Given the description of an element on the screen output the (x, y) to click on. 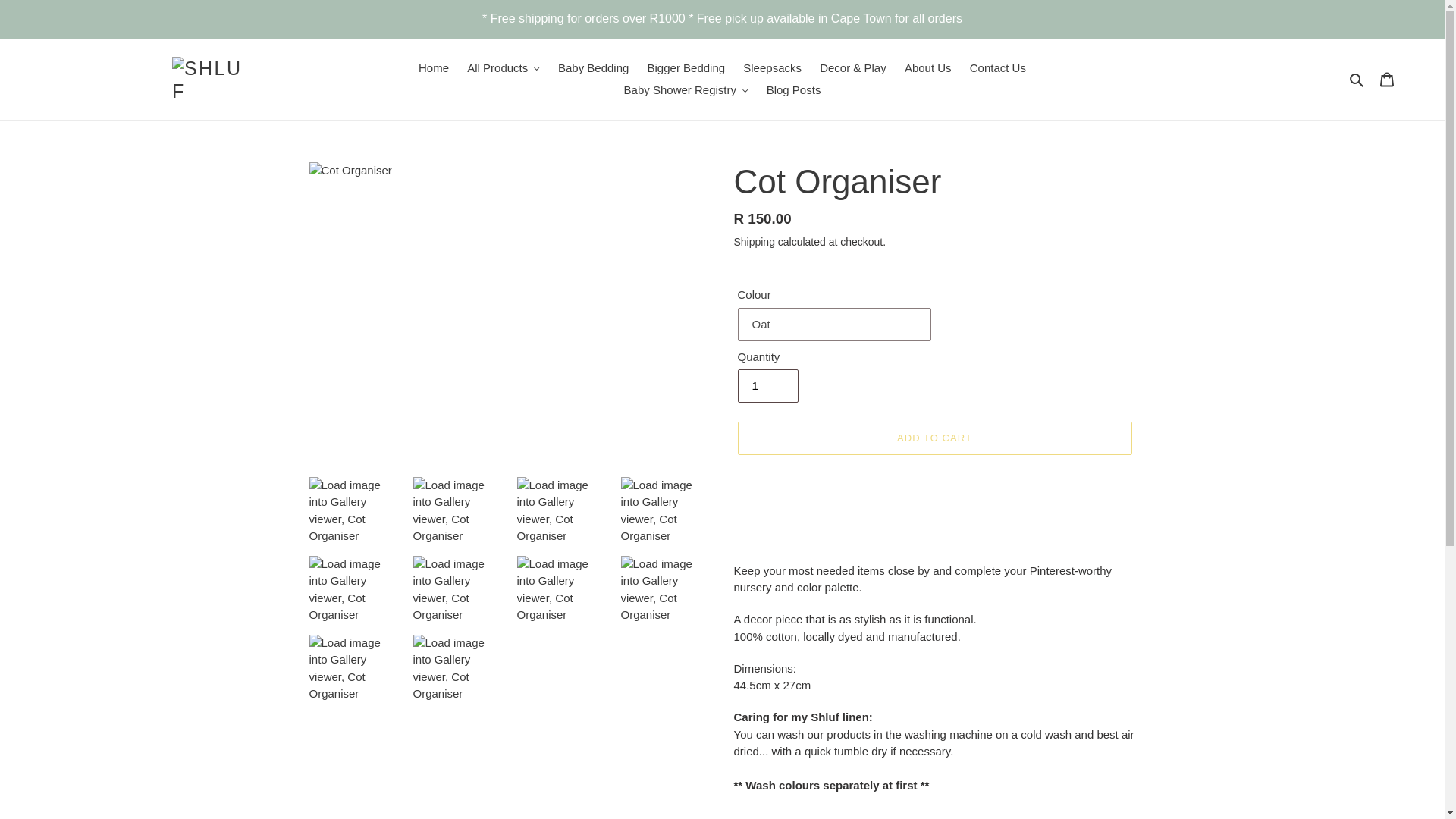
Bigger Bedding (686, 68)
1 (766, 385)
Cart (1387, 79)
All Products (503, 68)
Contact Us (997, 68)
Baby Shower Registry (685, 89)
Search (1357, 78)
Blog Posts (793, 89)
Sleepsacks (772, 68)
Baby Bedding (593, 68)
